Given the description of an element on the screen output the (x, y) to click on. 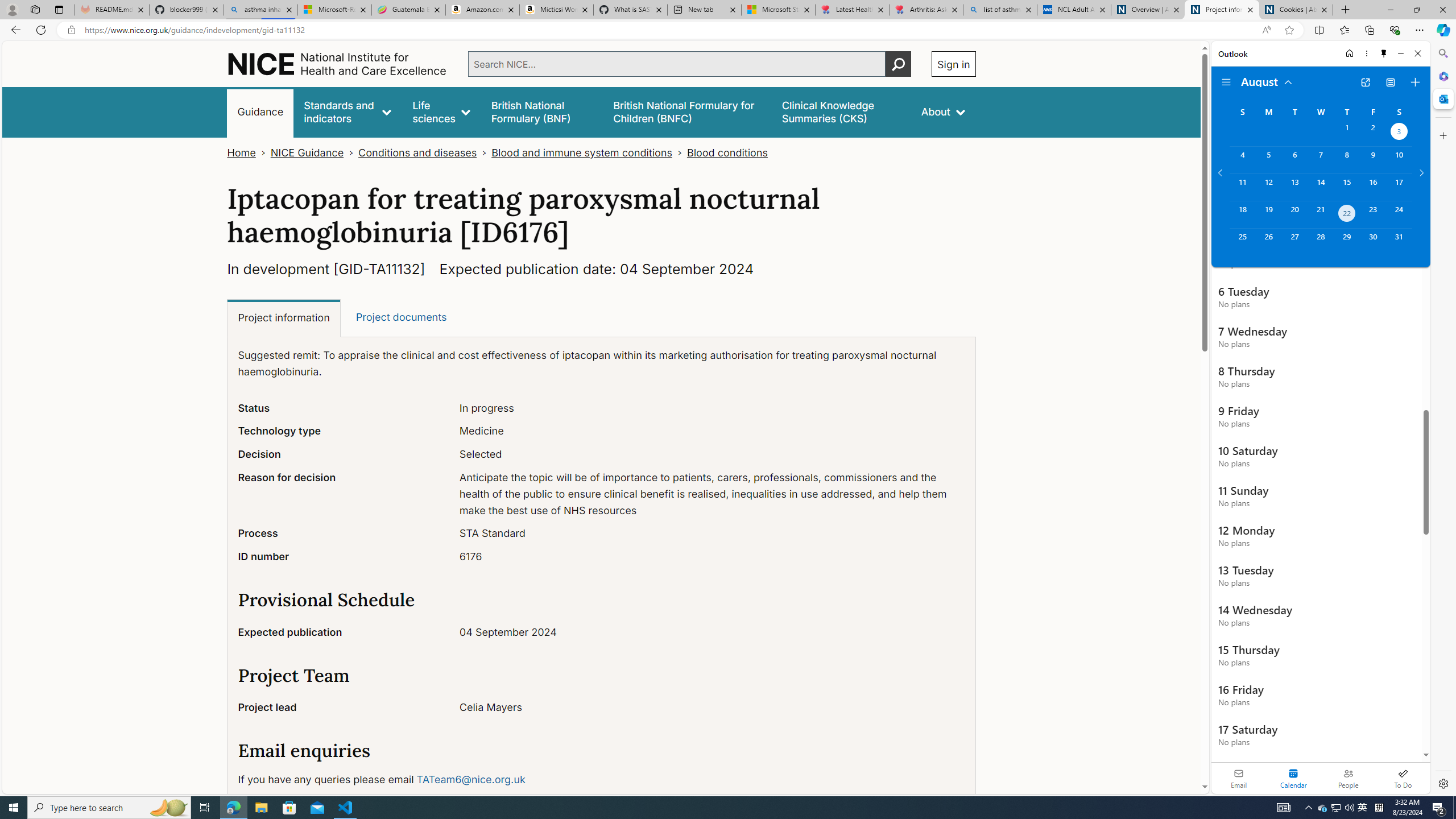
Wednesday, August 14, 2024.  (1320, 186)
About (942, 111)
Sunday, August 4, 2024.  (1242, 159)
About (942, 111)
Address and search bar (669, 29)
Side bar (1443, 418)
Wednesday, August 7, 2024.  (1320, 159)
Thursday, August 22, 2024. Today.  (1346, 214)
